Given the description of an element on the screen output the (x, y) to click on. 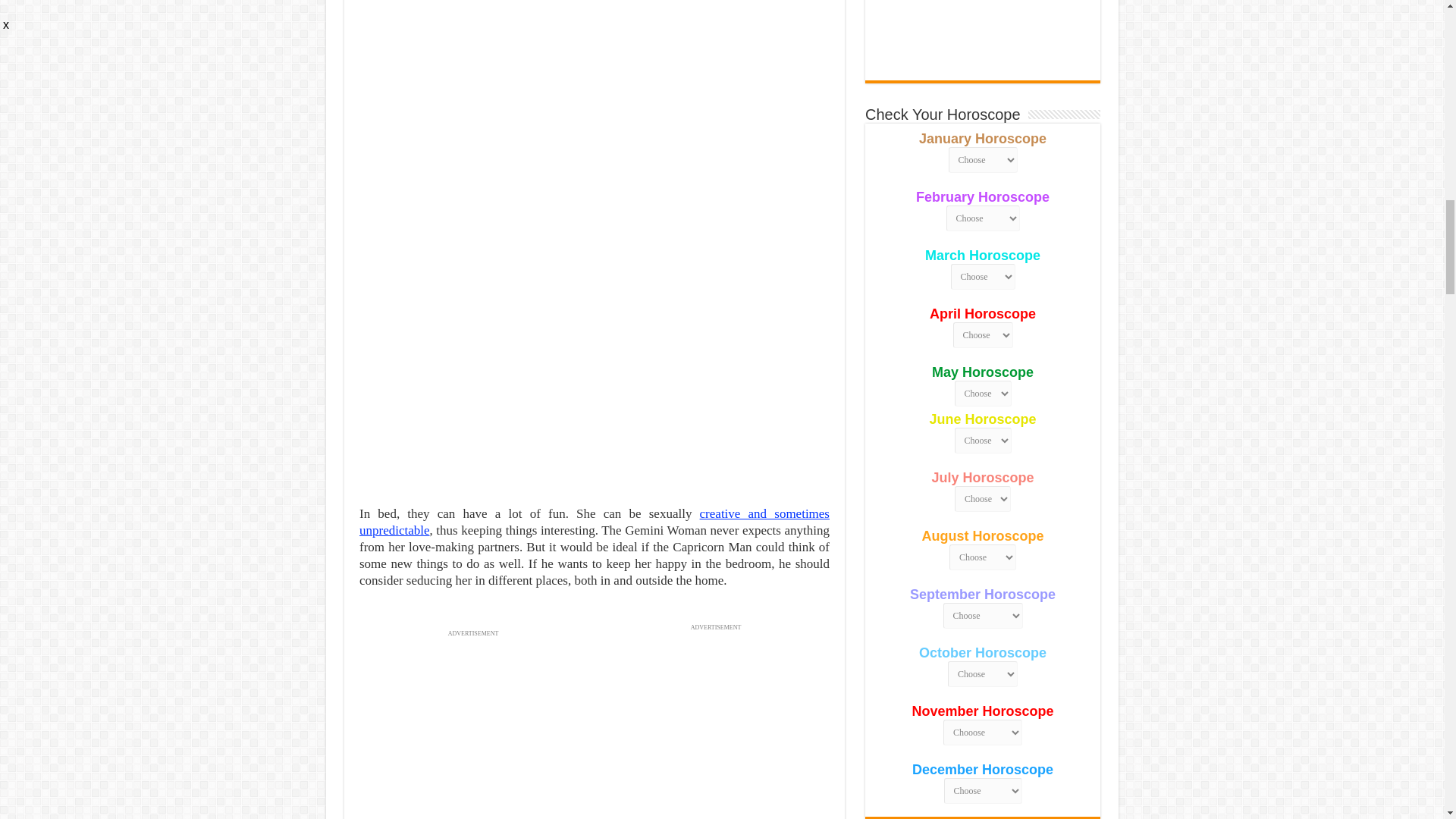
creative and sometimes unpredictable (594, 521)
